Given the description of an element on the screen output the (x, y) to click on. 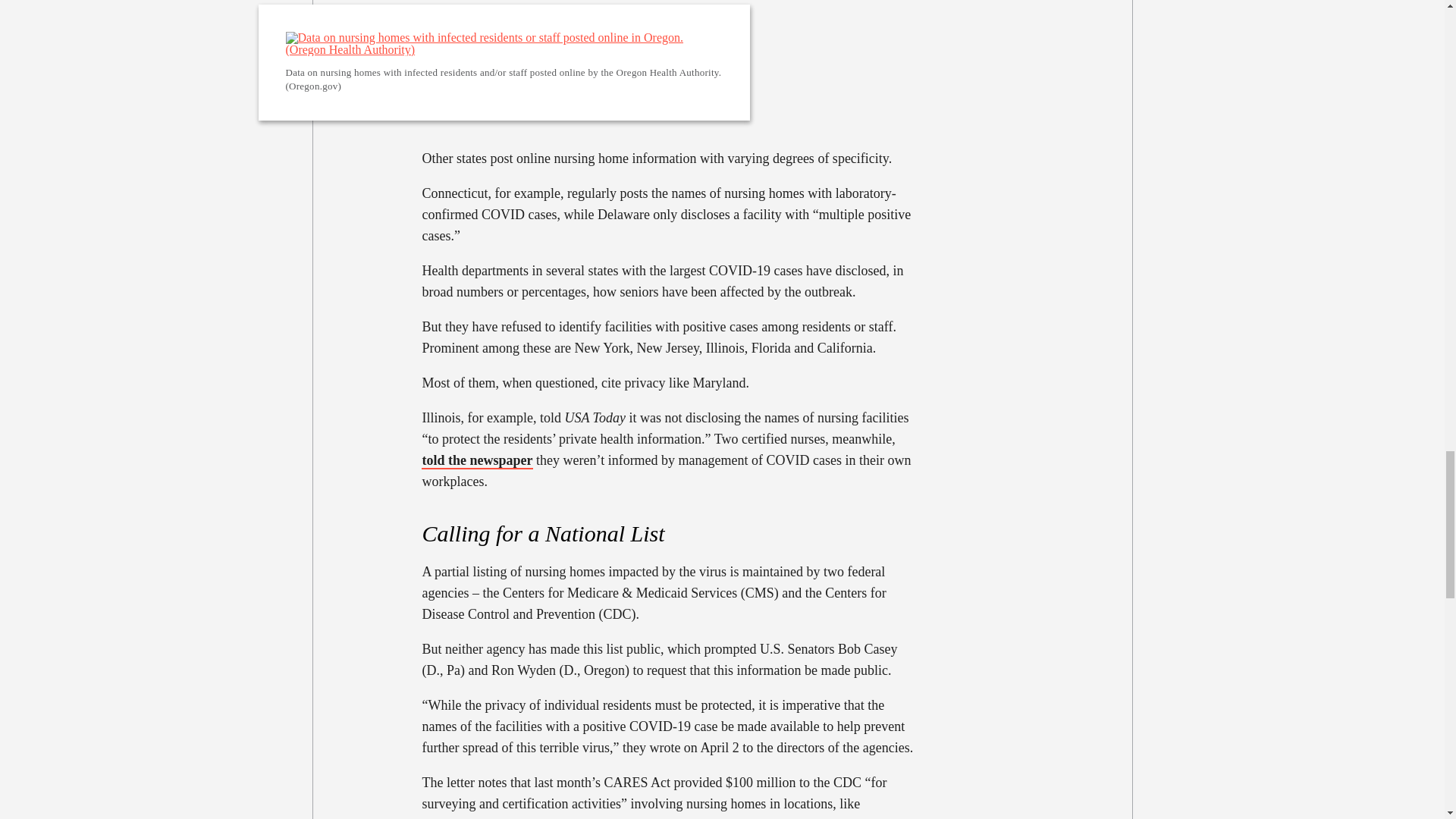
told the newspaper (477, 459)
